Given the description of an element on the screen output the (x, y) to click on. 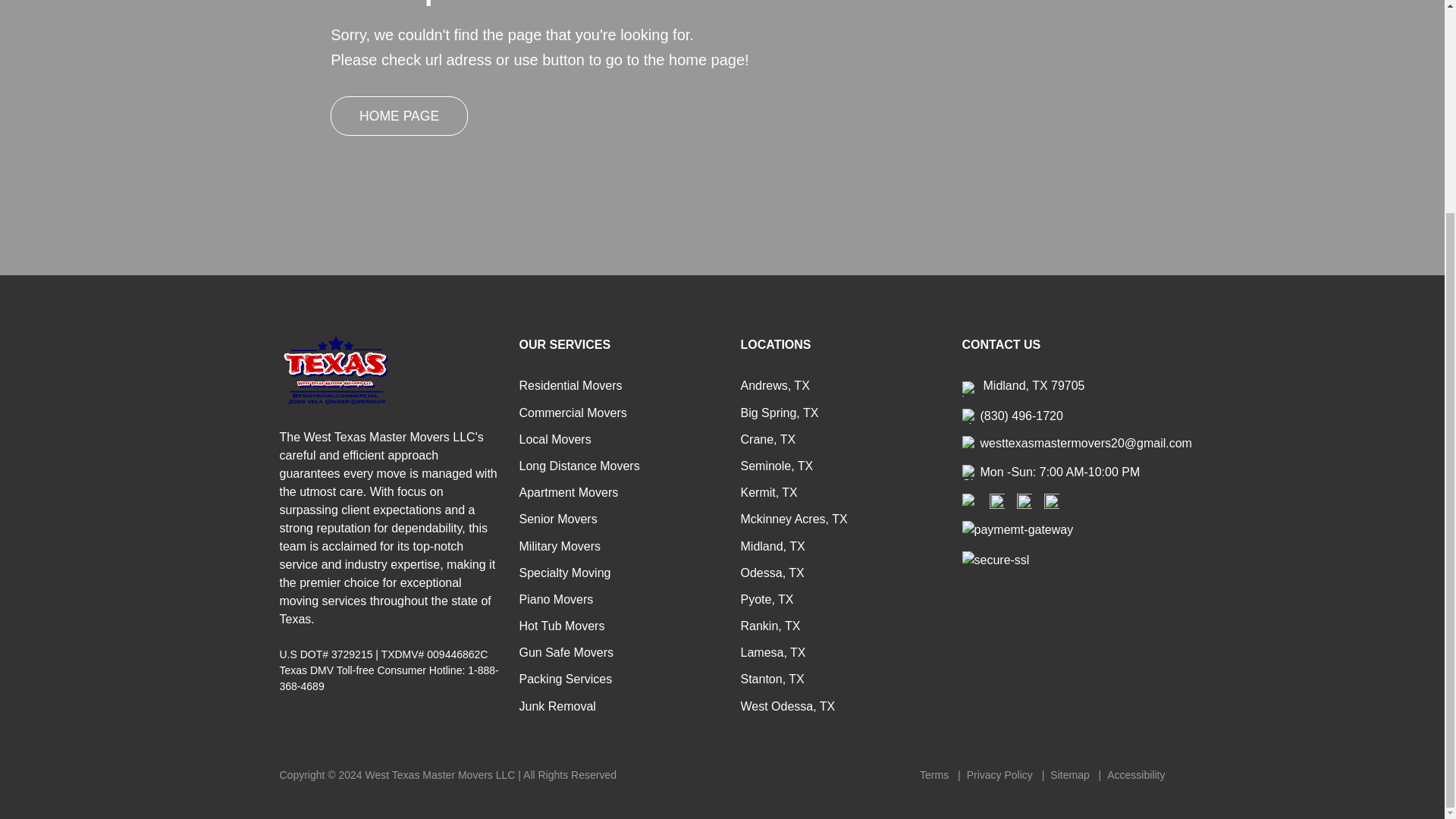
linkedin (1050, 500)
location-dot-bold (968, 388)
ig (996, 500)
facebook-f (968, 500)
icons8-google (1023, 500)
